Given the description of an element on the screen output the (x, y) to click on. 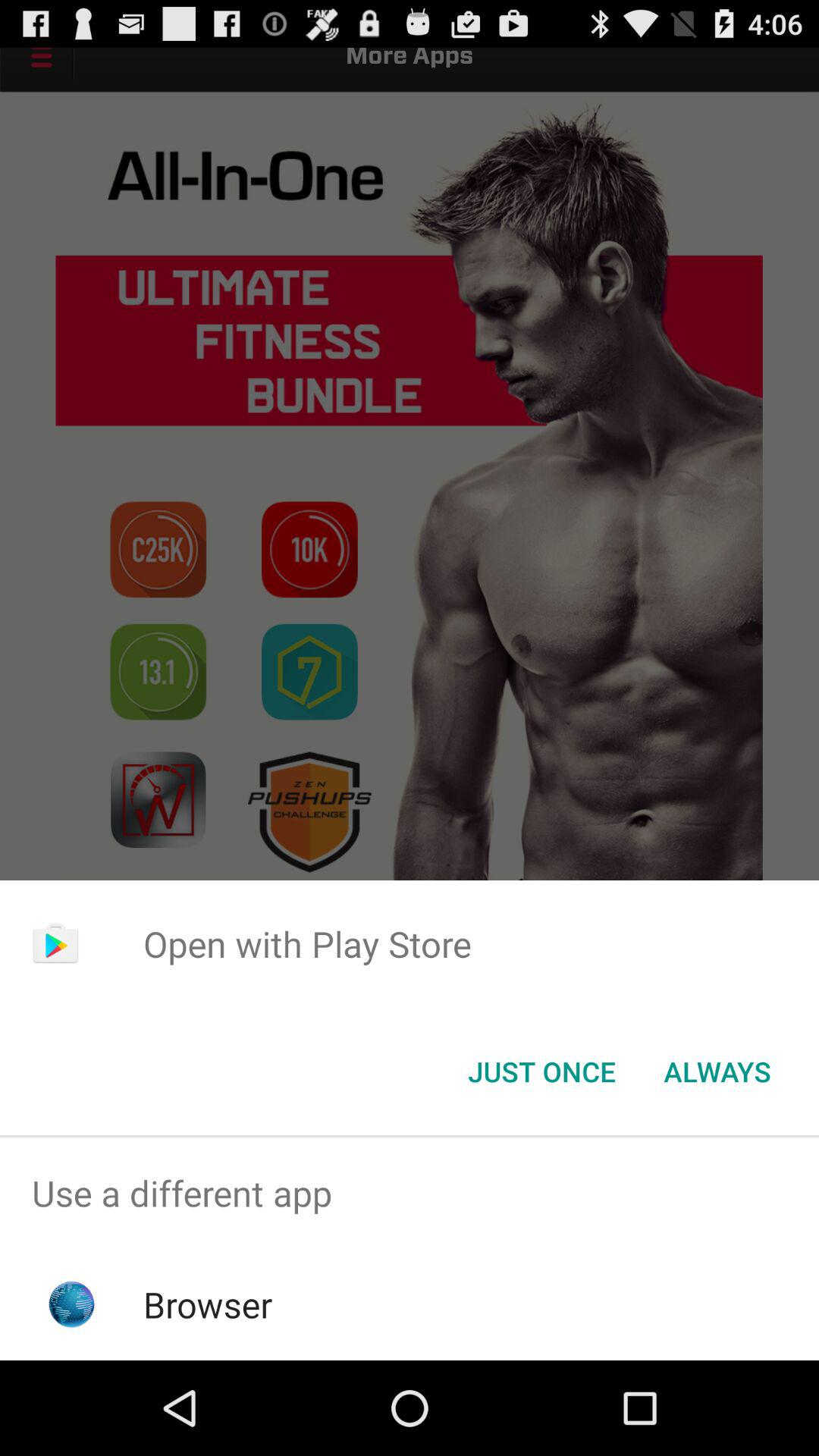
turn on the button next to the just once icon (717, 1071)
